Given the description of an element on the screen output the (x, y) to click on. 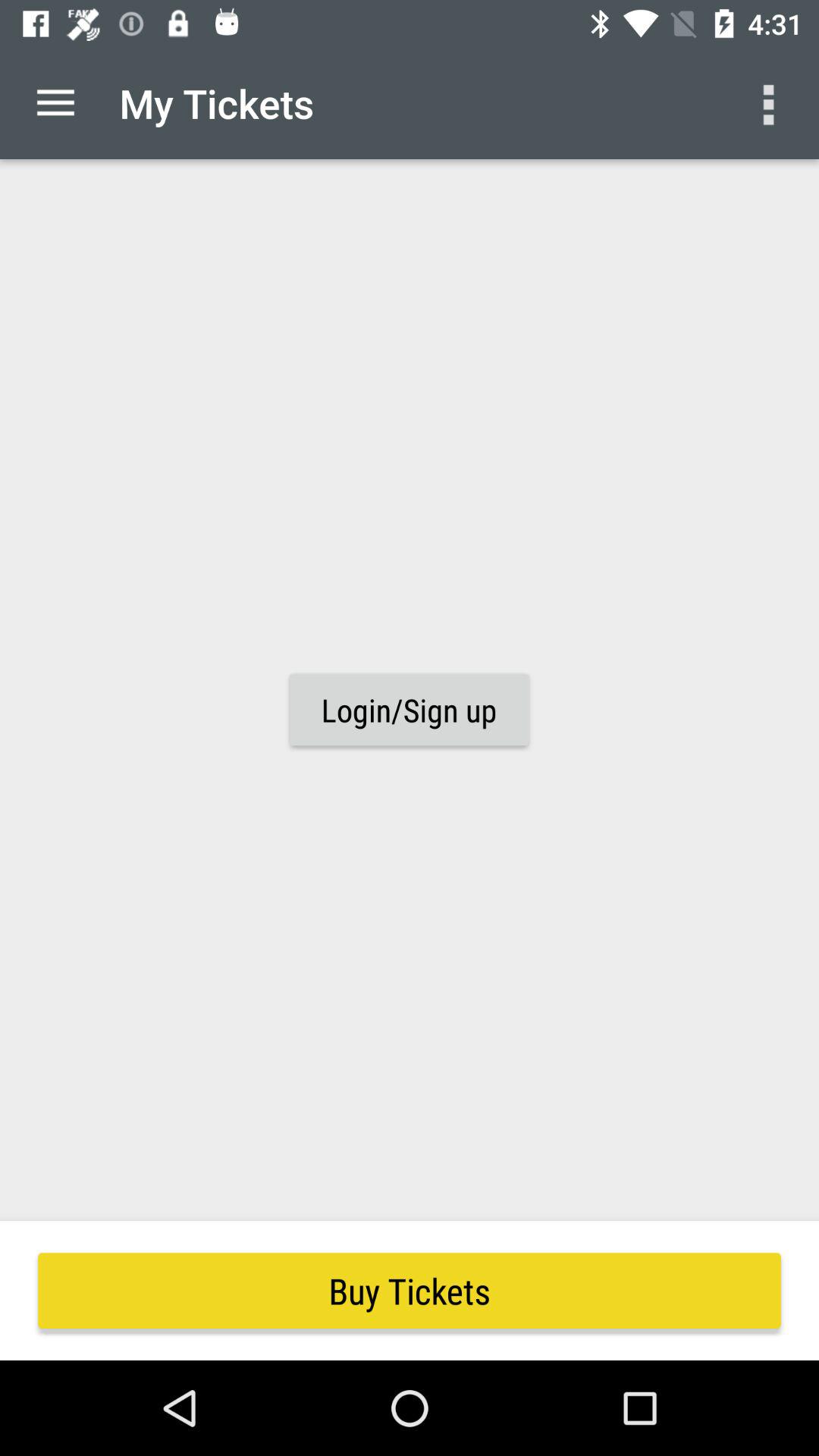
press item to the left of my tickets item (55, 103)
